Given the description of an element on the screen output the (x, y) to click on. 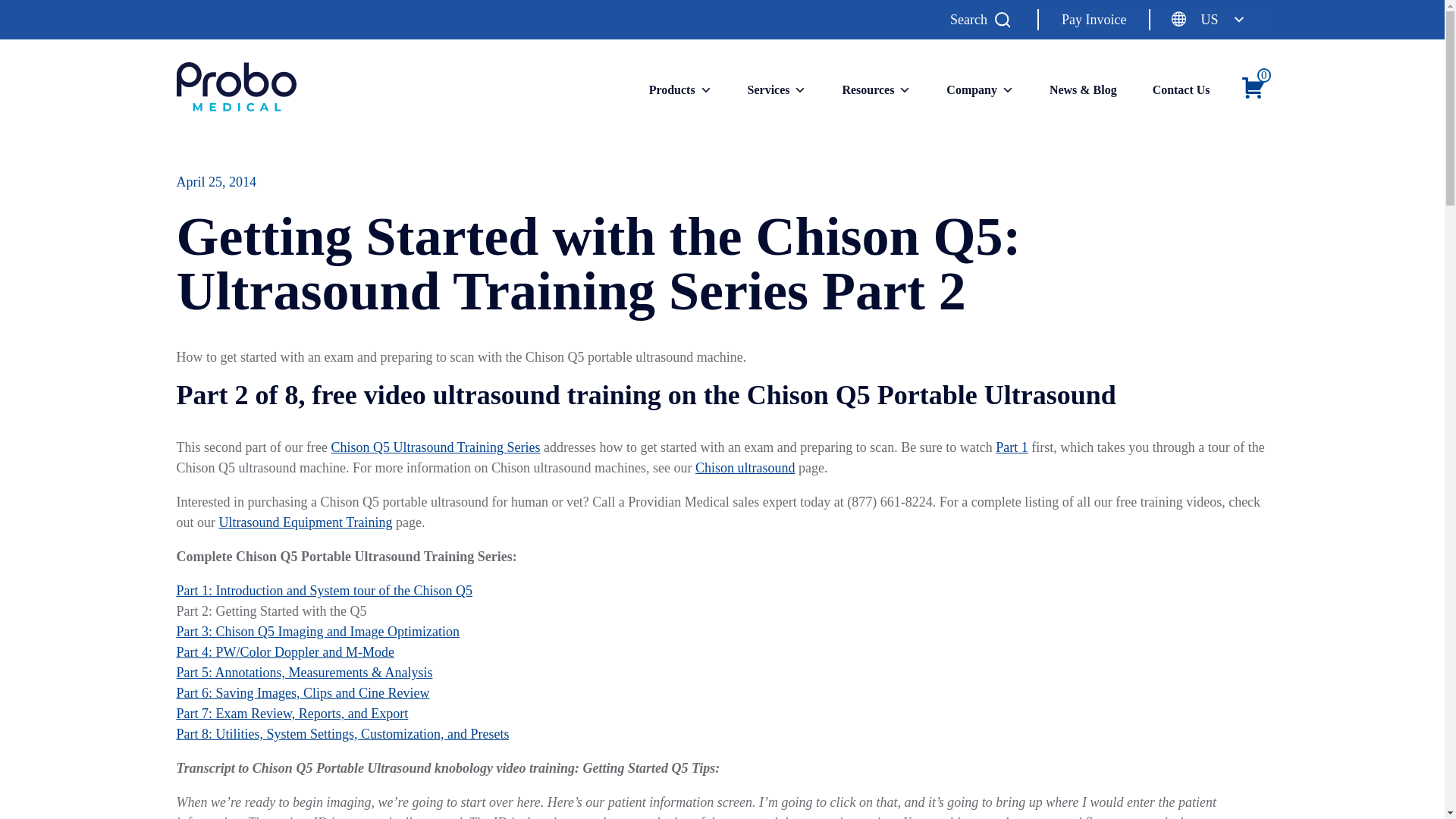
Services (776, 89)
Search (983, 20)
Ultrasound Equipment Training (304, 522)
Chison Q5 Ultrasound Video Training (1011, 447)
Chison Q5 Ultrasound Video Training (435, 447)
Products (680, 89)
US (1208, 20)
